Given the description of an element on the screen output the (x, y) to click on. 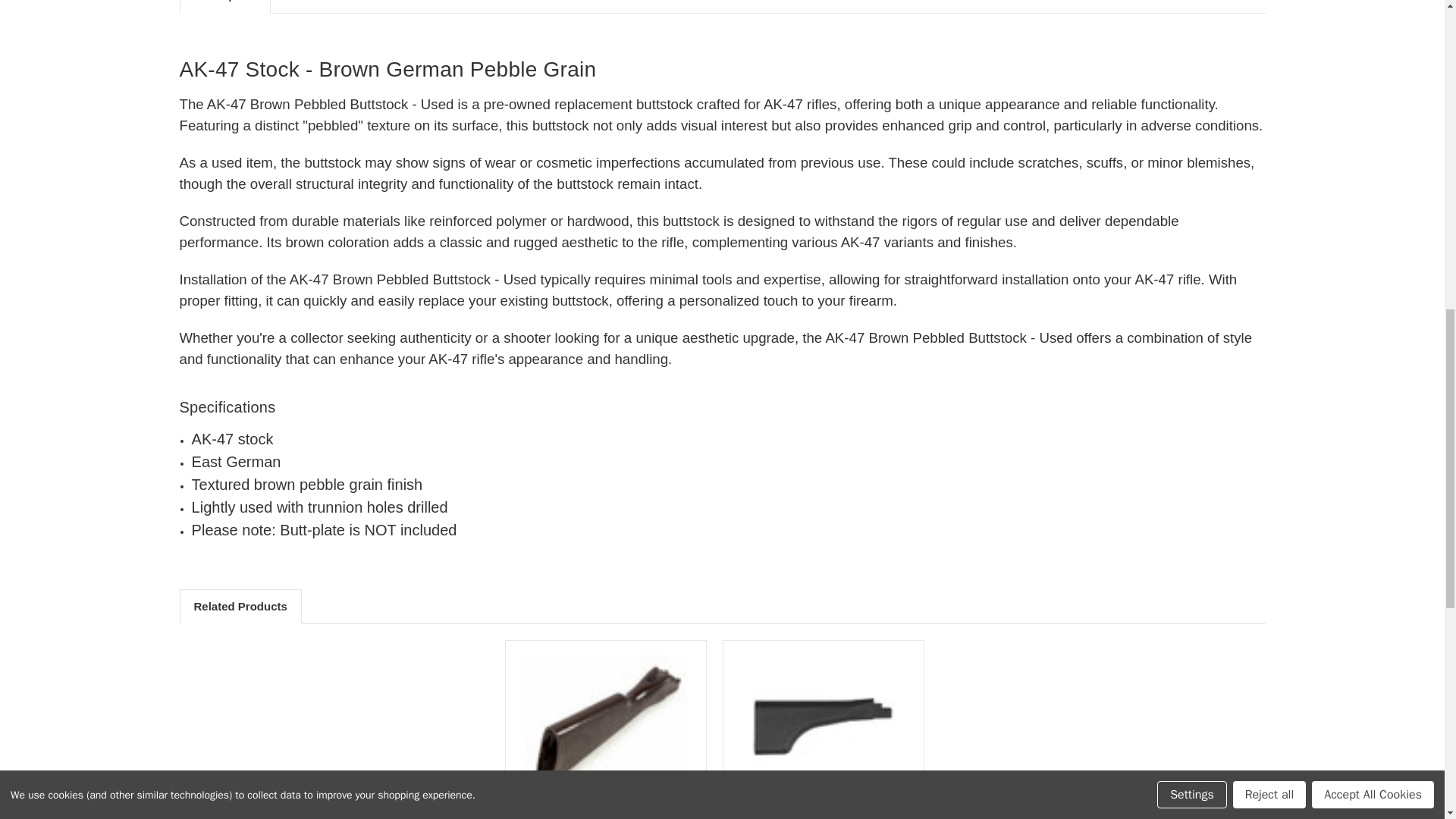
AK-47 Black Polymer Buttstock (822, 726)
AK-47 Brown Pebbled Buttstock -  New (605, 726)
